Given the description of an element on the screen output the (x, y) to click on. 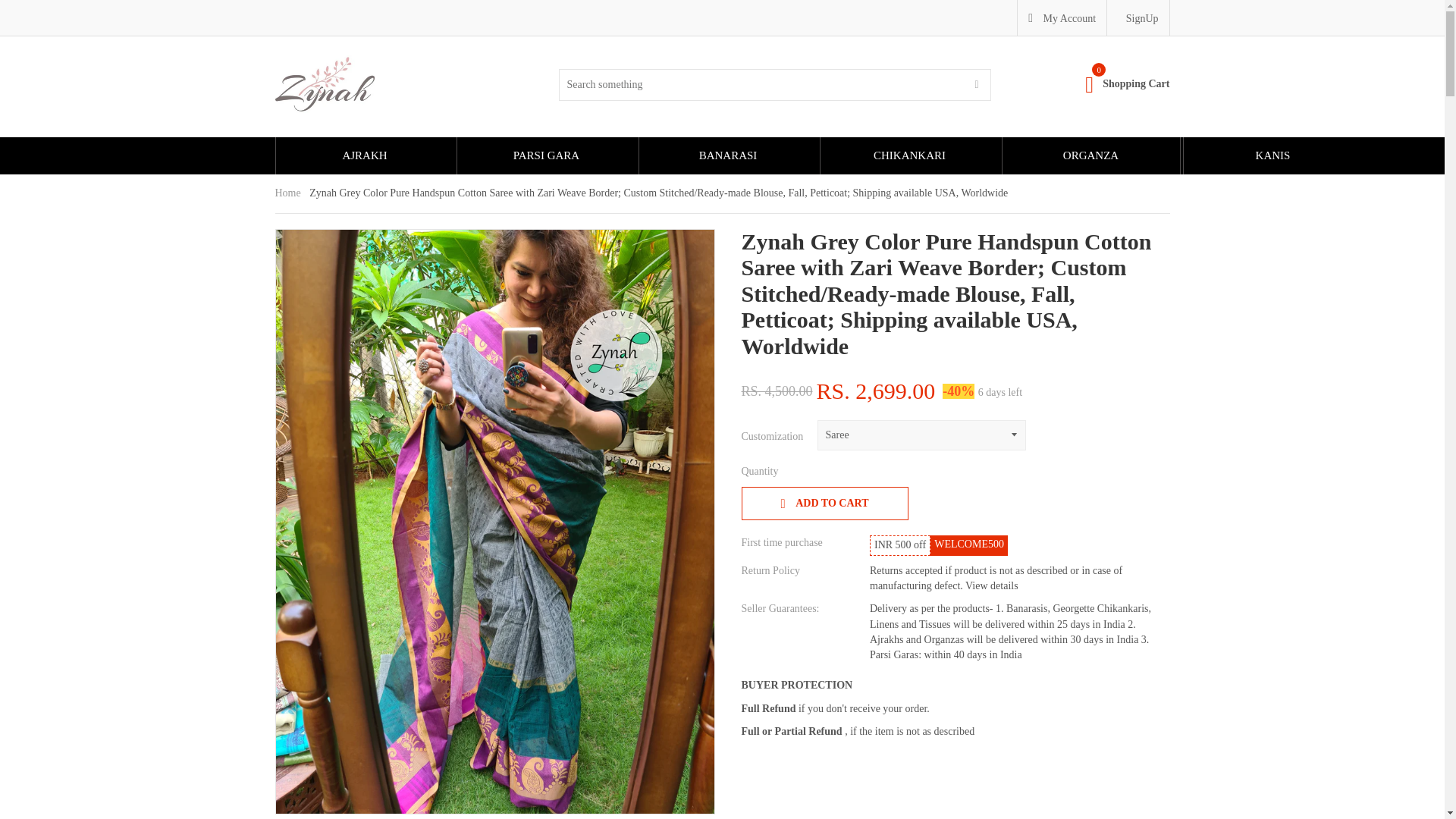
Back to the frontpage (287, 193)
KANIS (1273, 156)
CHIKANKARI (909, 156)
BANARASI (1126, 86)
SignUp (727, 156)
View details (1141, 18)
ORGANZA (991, 585)
My Account (1090, 156)
Add this product to Cart (1061, 17)
Home (824, 503)
PARSI GARA (287, 193)
ADD TO CART (546, 156)
AJRAKH (824, 503)
